Given the description of an element on the screen output the (x, y) to click on. 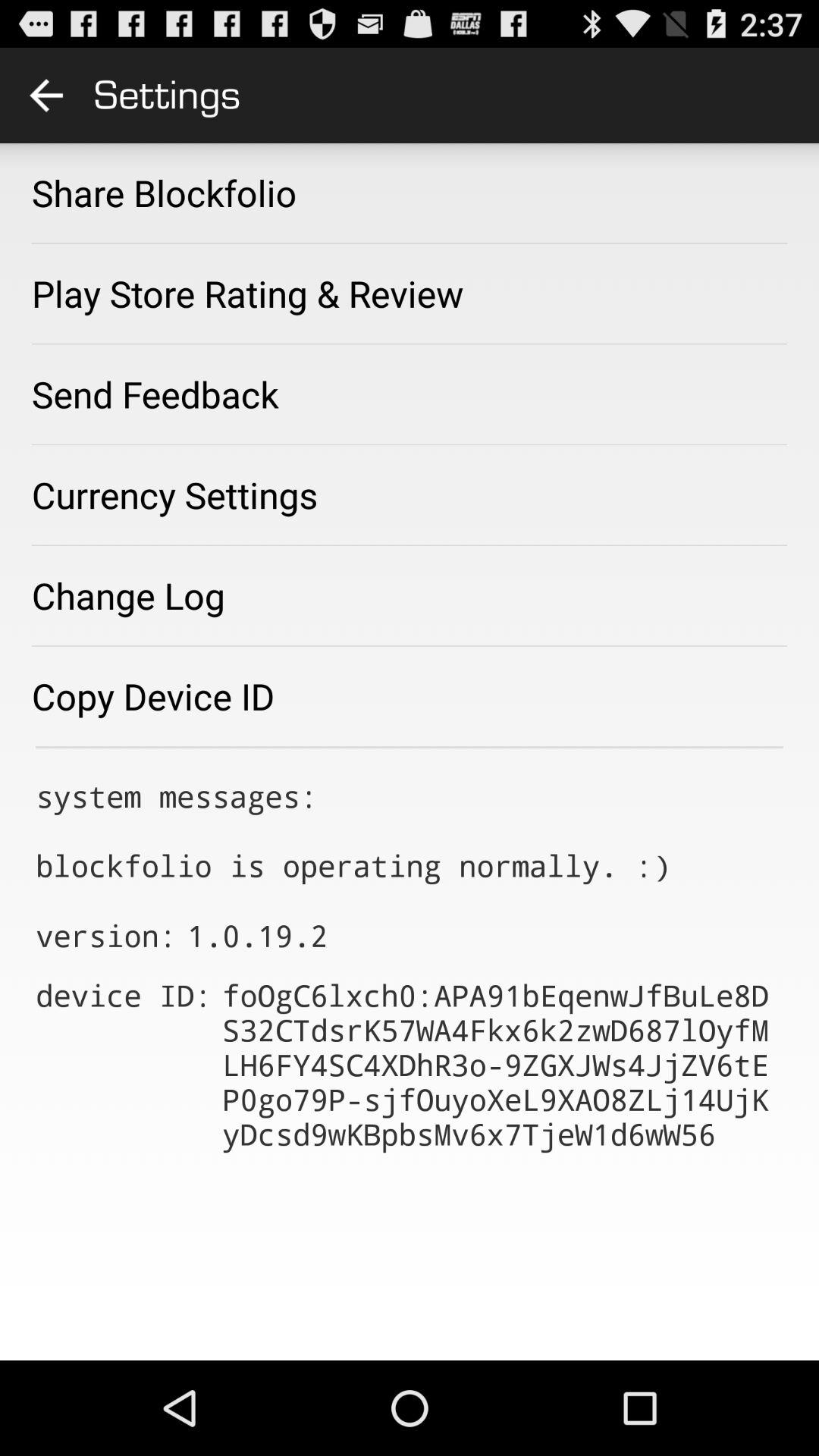
scroll to system messages blockfolio (352, 830)
